Given the description of an element on the screen output the (x, y) to click on. 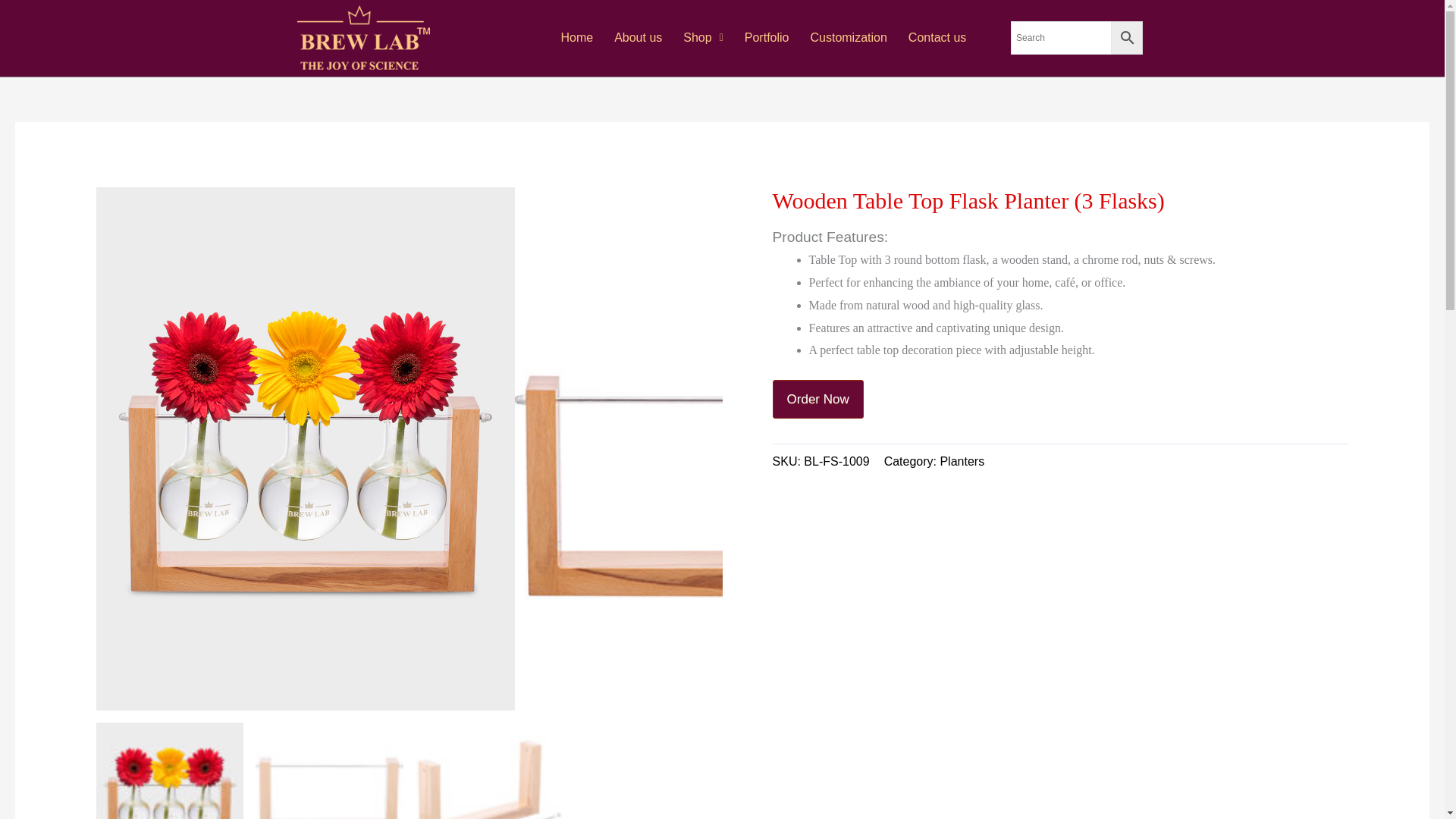
About us (638, 37)
Order Now (818, 399)
Portfolio (766, 37)
Shop (702, 37)
Customization (847, 37)
Contact us (937, 37)
Home (577, 37)
Planters (961, 461)
